Given the description of an element on the screen output the (x, y) to click on. 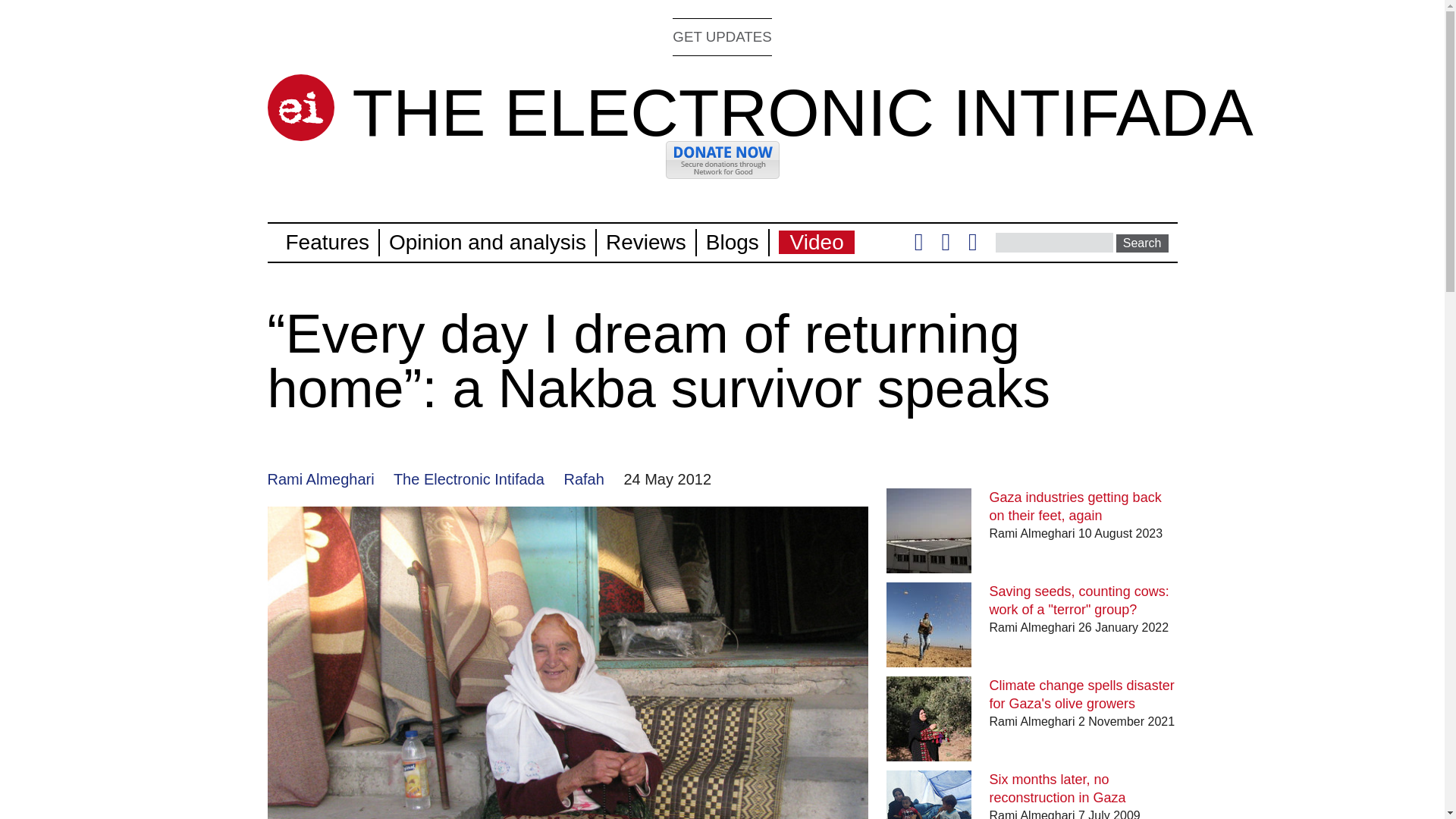
Enter the terms you wish to search for. (1054, 242)
Features (327, 241)
Climate change spells disaster for Gaza's olive growers (1082, 694)
Opinion and analysis (487, 241)
The Electronic Intifada (468, 478)
THE ELECTRONIC INTIFADA (802, 112)
Saving seeds, counting cows: work of a "terror" group? (1079, 600)
Reviews (645, 241)
GET UPDATES (721, 37)
Blogs (732, 241)
Rami Almeghari (320, 478)
Search (1142, 243)
Rafah (583, 478)
Home (802, 112)
Home (299, 107)
